Given the description of an element on the screen output the (x, y) to click on. 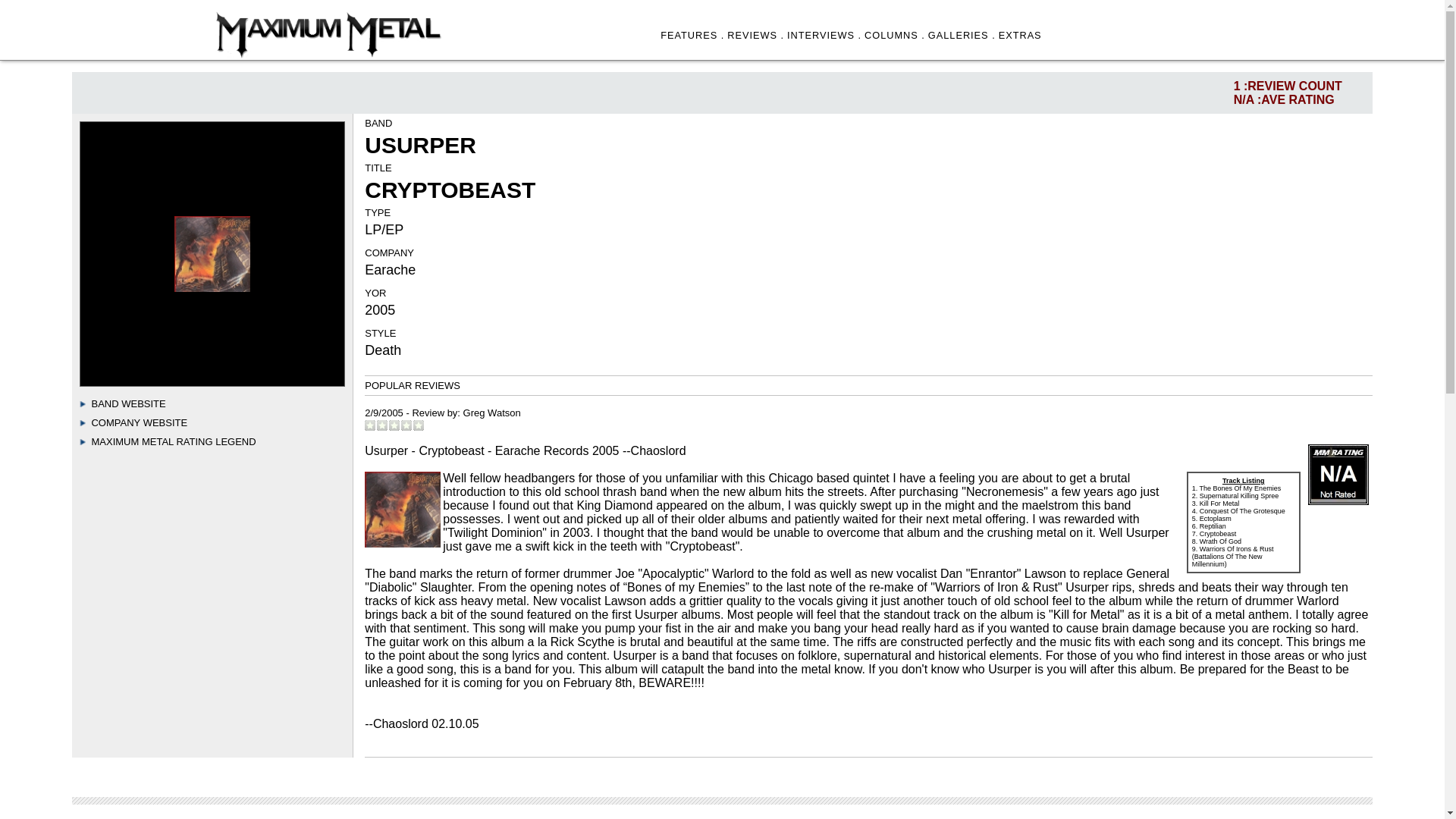
FEATURES . (692, 34)
REVIEWS . (755, 34)
COMPANY WEBSITE (138, 422)
Greg Watson (492, 412)
BAND WEBSITE (127, 403)
EXTRAS (1020, 34)
GALLERIES . (961, 34)
COLUMNS . (894, 34)
INTERVIEWS . (824, 34)
